Given the description of an element on the screen output the (x, y) to click on. 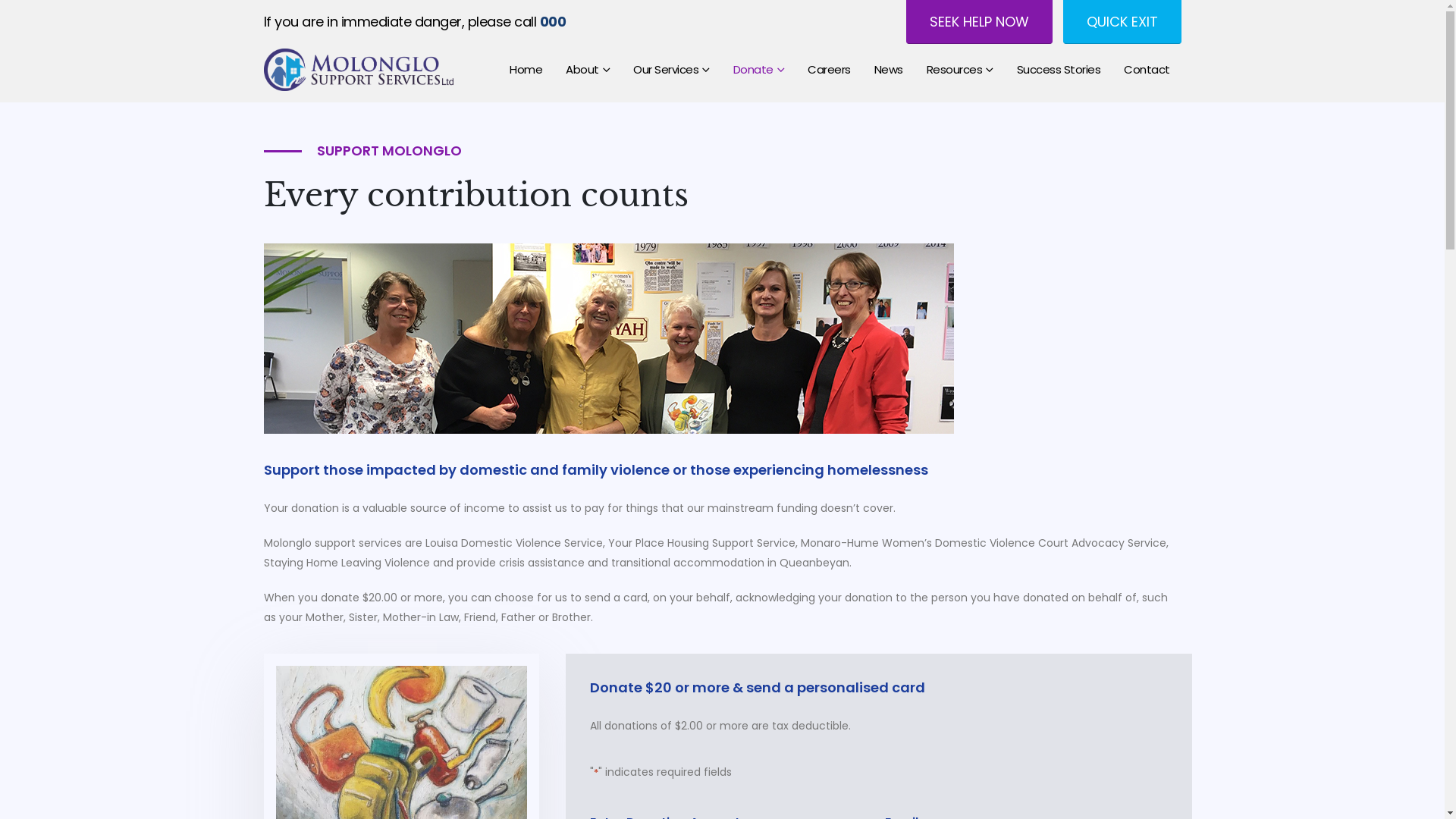
About Element type: text (587, 69)
 000 Element type: text (550, 21)
Careers Element type: text (829, 69)
Success Stories Element type: text (1058, 69)
SEEK HELP NOW Element type: text (978, 21)
QUICK EXIT Element type: text (1122, 21)
MSS_Launch-Fundraising-card Element type: hover (608, 338)
News Element type: text (888, 69)
Contact Element type: text (1146, 69)
Donate Element type: text (758, 69)
Home Element type: text (525, 69)
Resources Element type: text (959, 69)
Our Services Element type: text (671, 69)
